Given the description of an element on the screen output the (x, y) to click on. 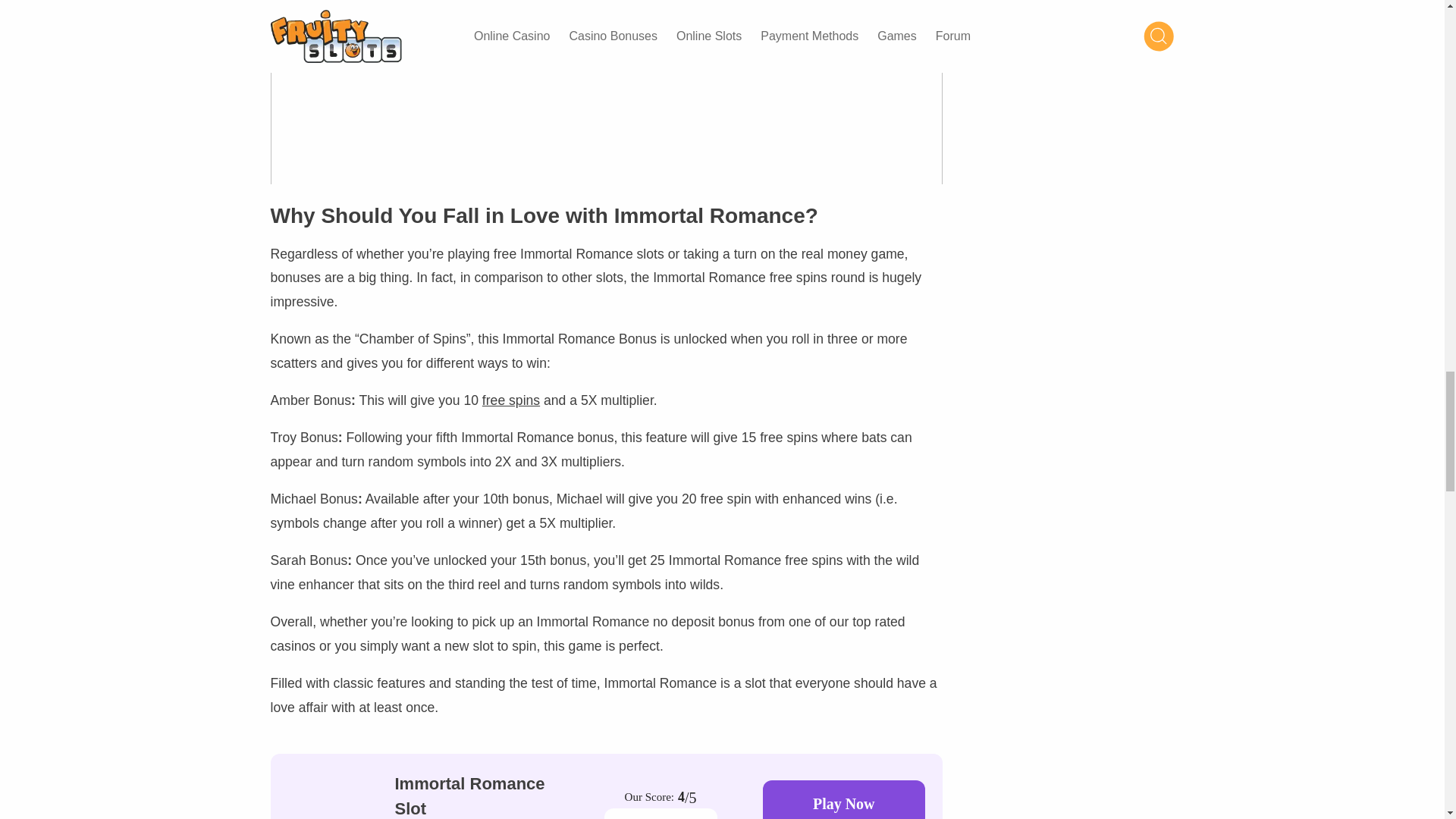
Play Now (843, 799)
